Given the description of an element on the screen output the (x, y) to click on. 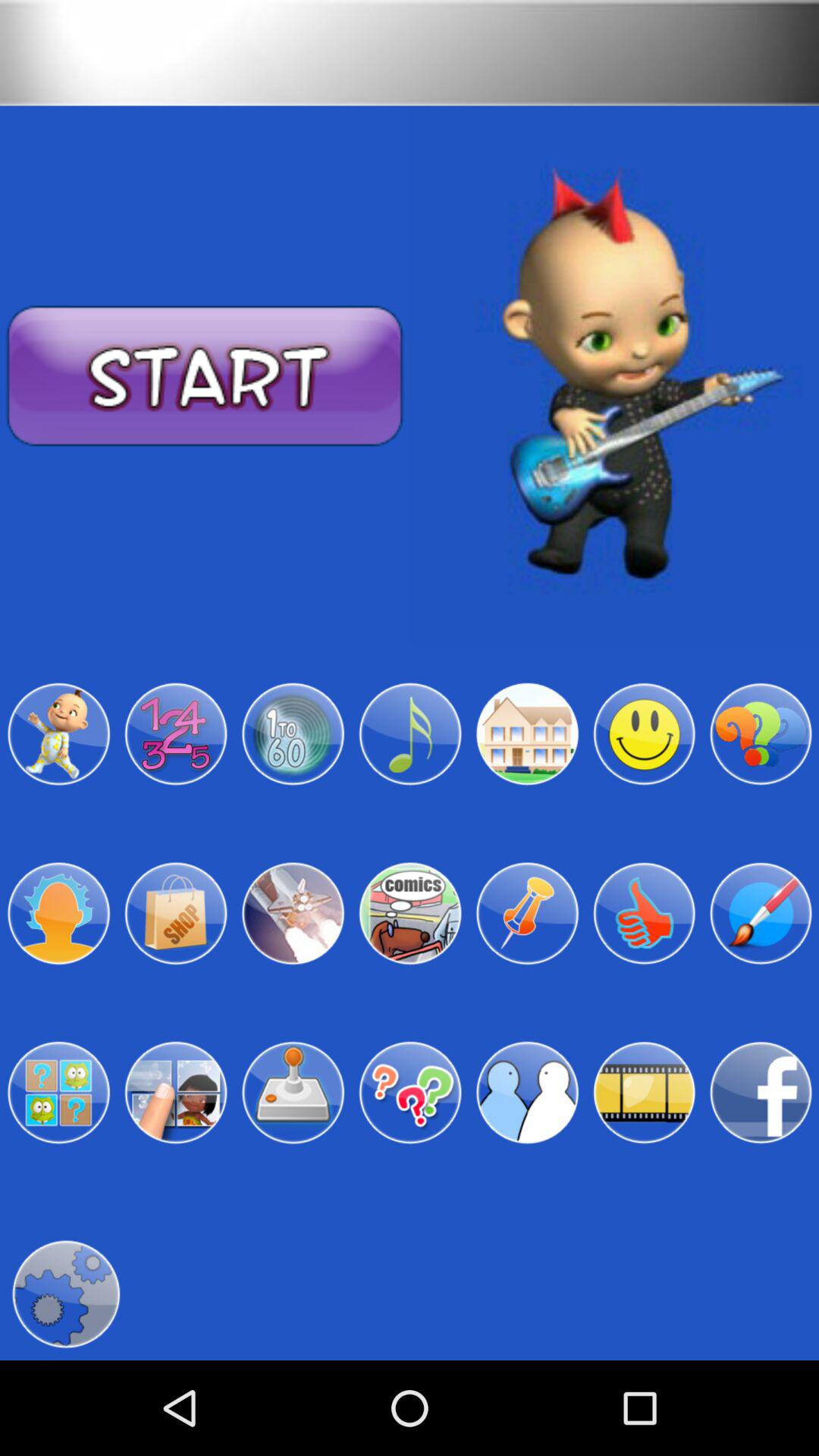
select interaction option (526, 1092)
